Given the description of an element on the screen output the (x, y) to click on. 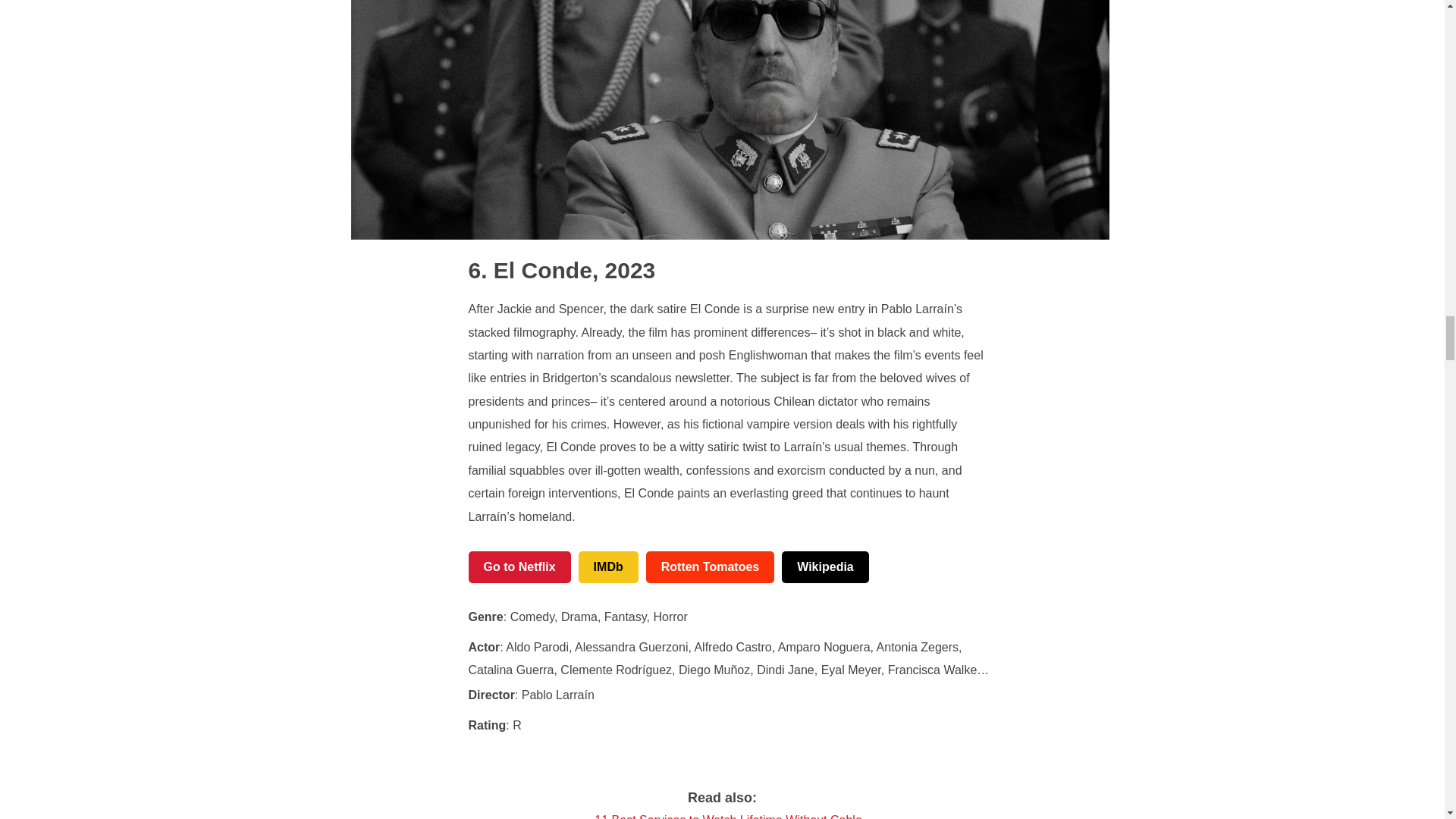
El Conde (530, 269)
